Given the description of an element on the screen output the (x, y) to click on. 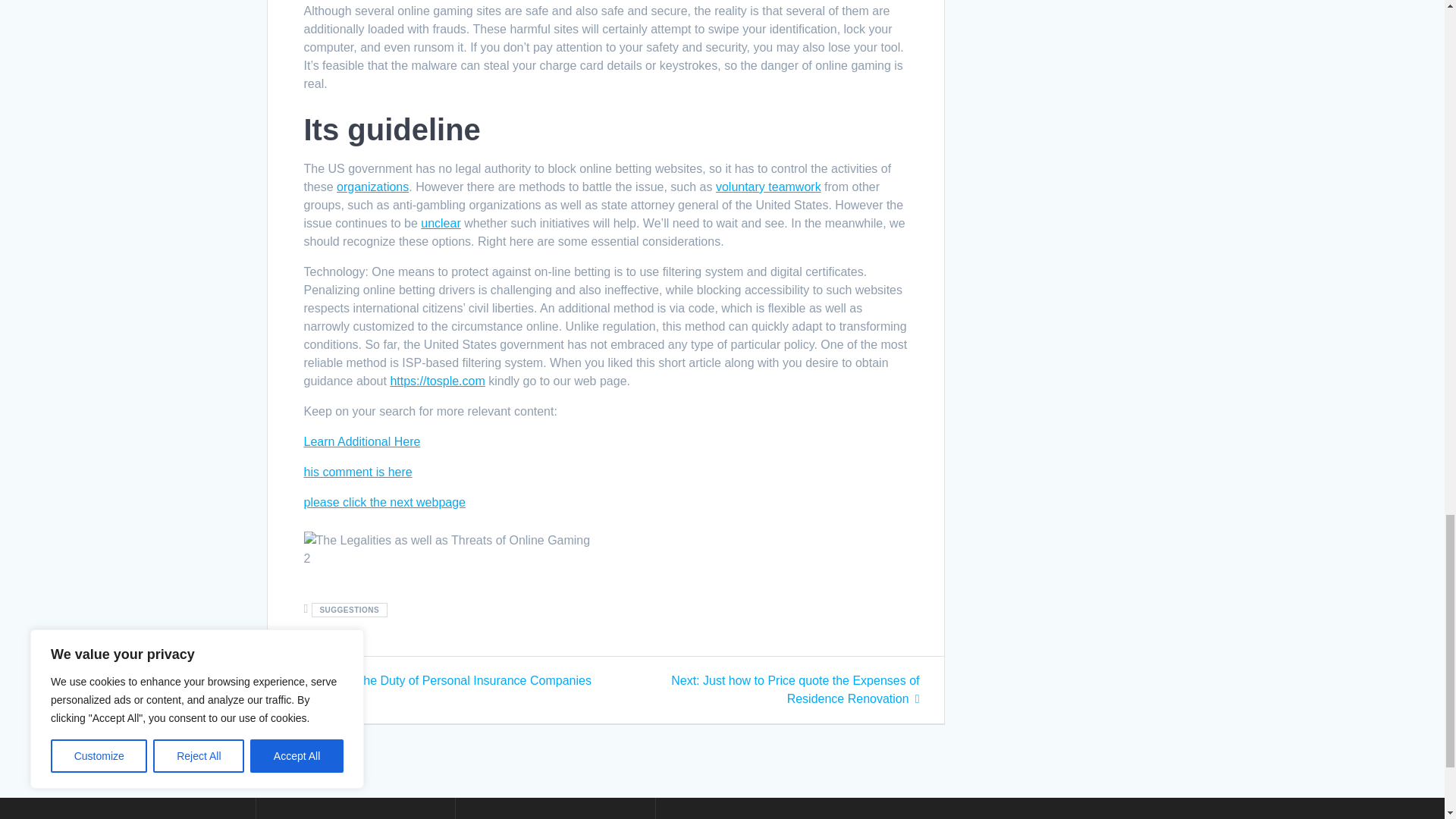
unclear (440, 223)
organizations (372, 186)
SUGGESTIONS (349, 609)
please click the next webpage (383, 502)
voluntary teamwork (768, 186)
his comment is here (357, 472)
Learn Additional Here (361, 440)
